Given the description of an element on the screen output the (x, y) to click on. 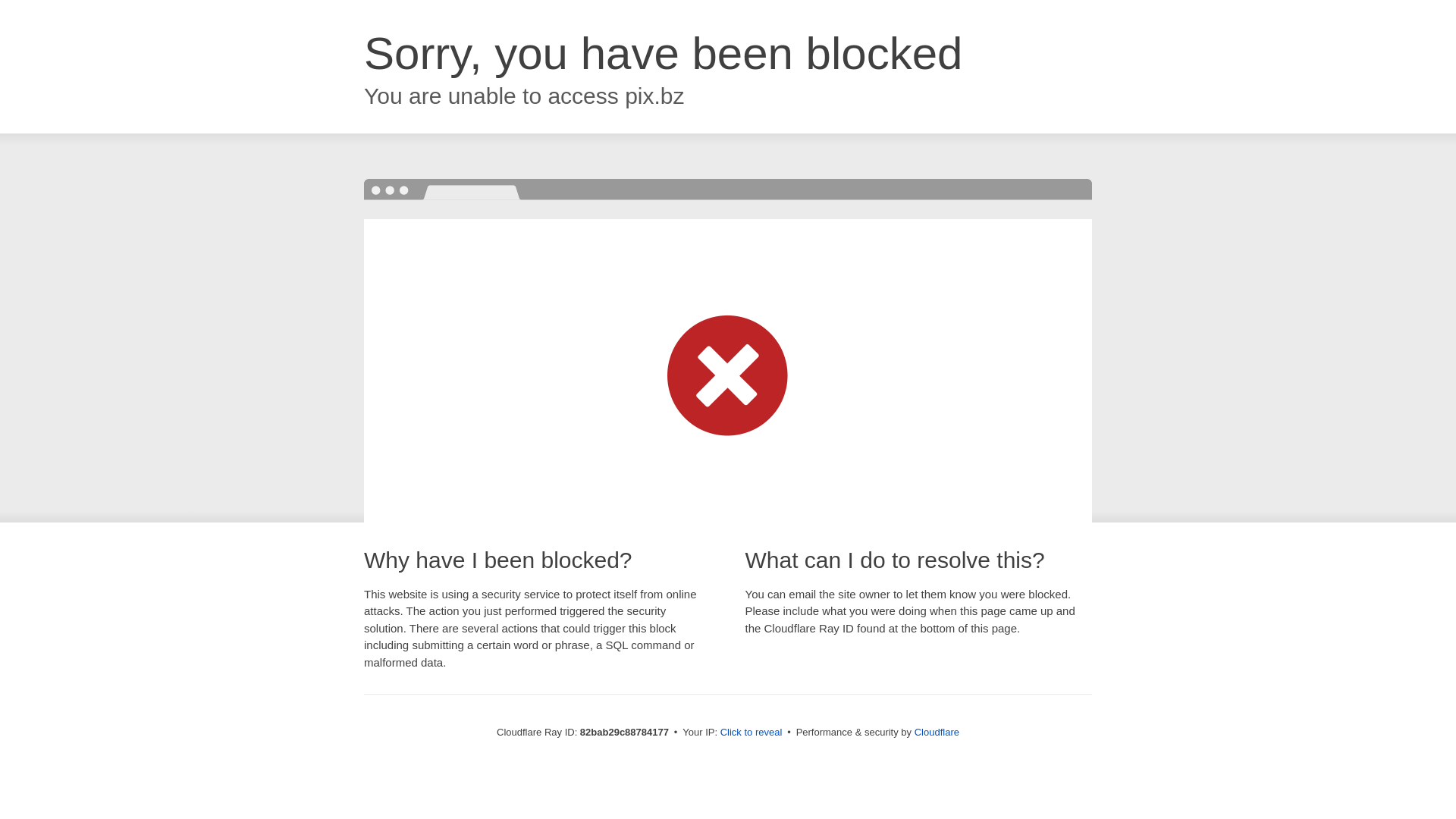
Click to reveal Element type: text (751, 732)
Cloudflare Element type: text (936, 731)
